Given the description of an element on the screen output the (x, y) to click on. 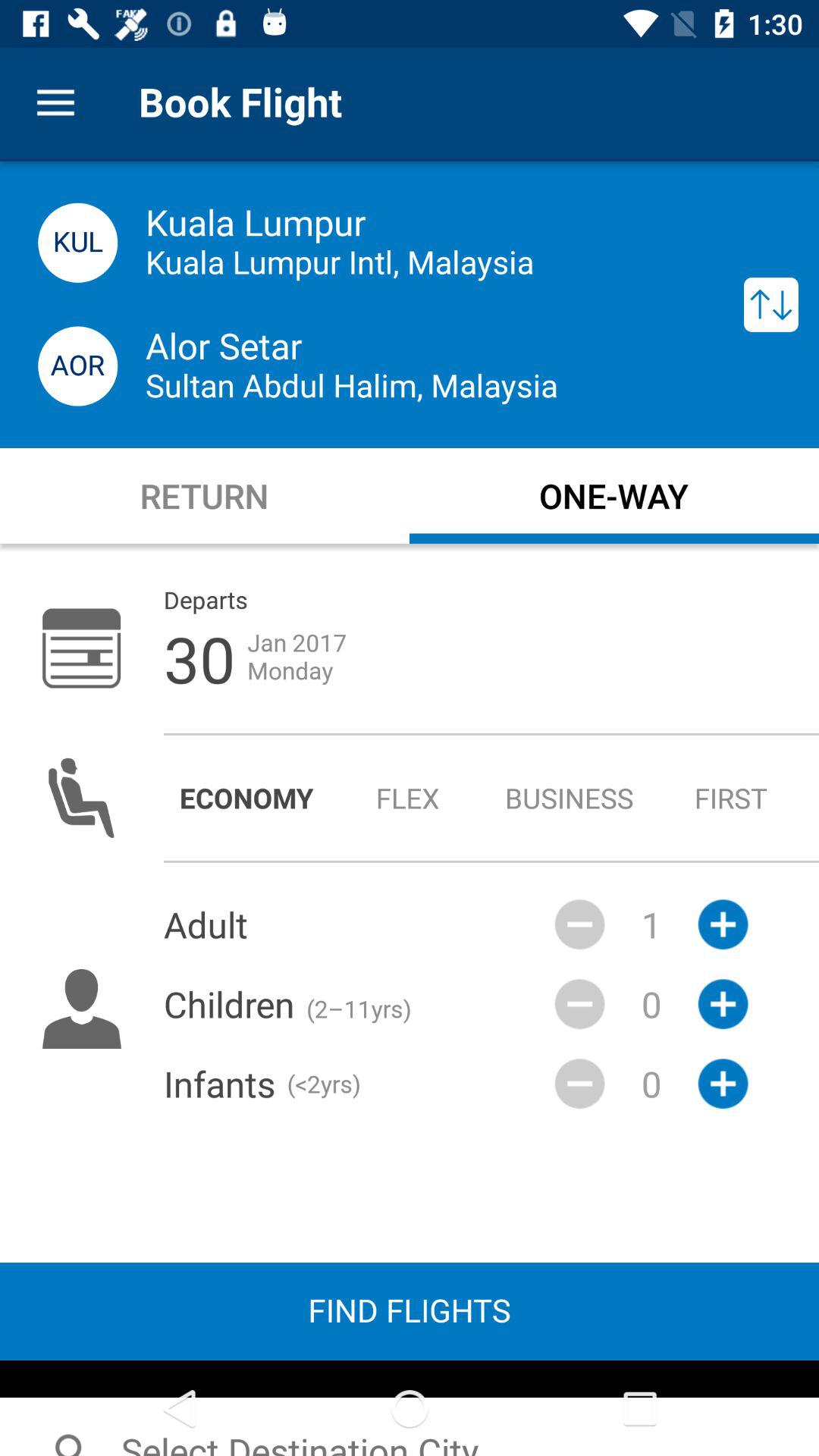
turn on item to the left of the book flight icon (55, 103)
